Given the description of an element on the screen output the (x, y) to click on. 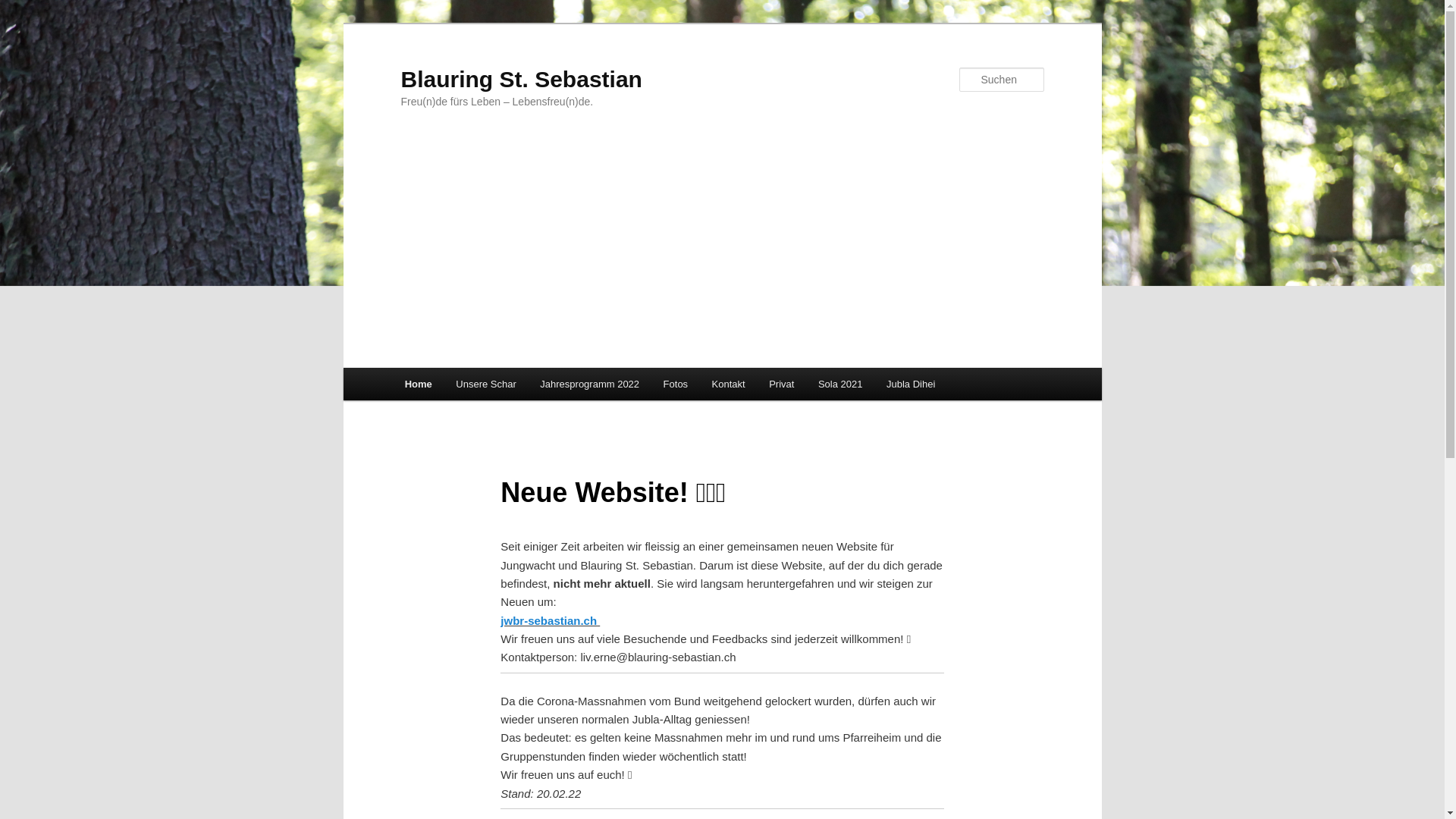
Blauring St. Sebastian Element type: text (520, 78)
jwbr-sebastian.ch Element type: text (548, 620)
Fotos Element type: text (675, 383)
Kontakt Element type: text (728, 383)
Suchen Element type: text (25, 8)
Sola 2021 Element type: text (840, 383)
Jahresprogramm 2022 Element type: text (589, 383)
Unsere Schar Element type: text (486, 383)
Zum Inhalt wechseln Element type: text (22, 22)
Page 1 Element type: hover (721, 808)
Home Element type: text (418, 383)
Privat Element type: text (781, 383)
Jubla Dihei Element type: text (910, 383)
